Given the description of an element on the screen output the (x, y) to click on. 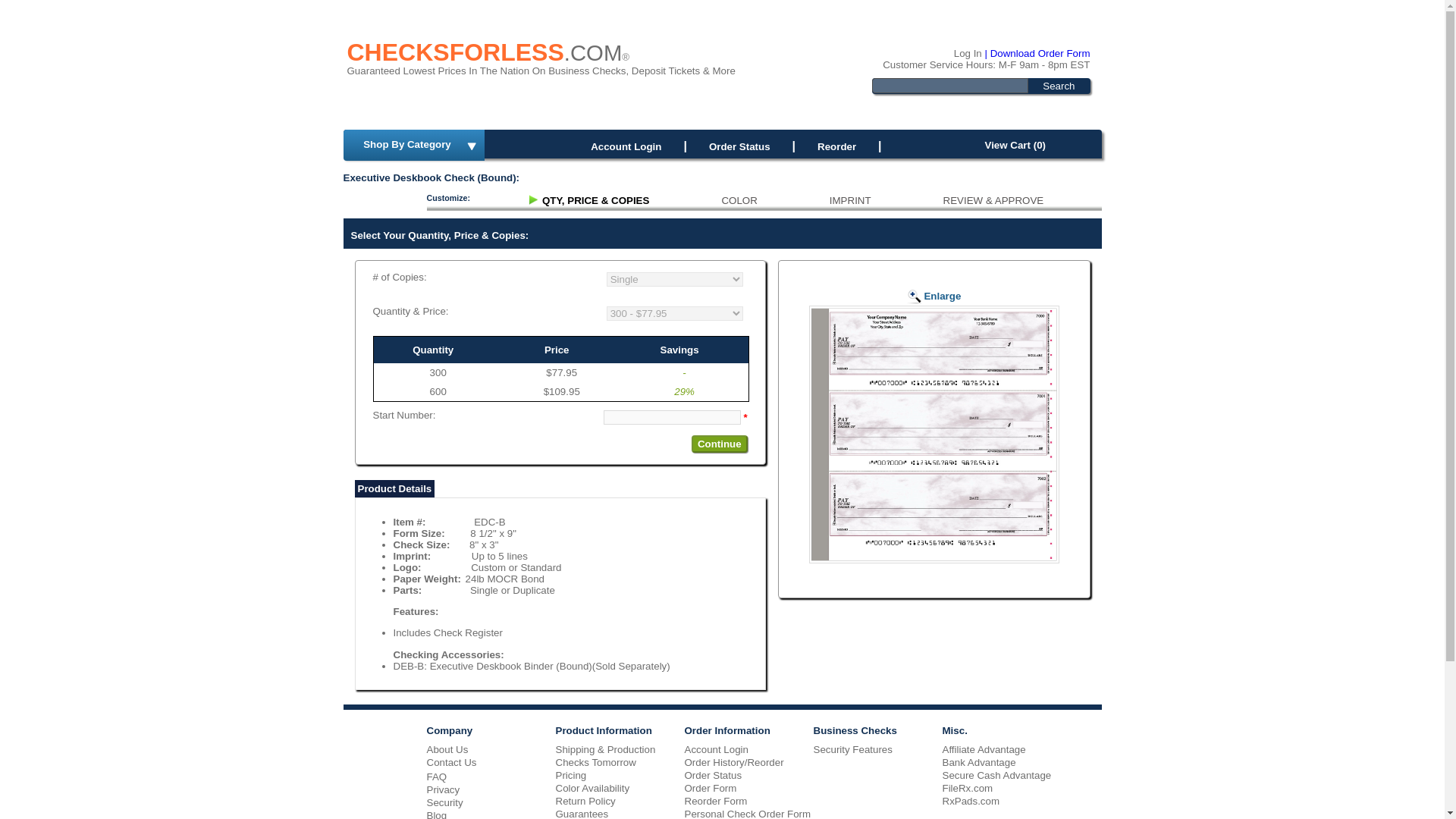
COLOR (738, 200)
Log In (967, 52)
Continue (719, 443)
IMPRINT (849, 200)
Search (1058, 85)
 Enlarge (933, 284)
Account Login (626, 146)
Continue (719, 443)
Order Status (739, 146)
Reorder (836, 146)
